Given the description of an element on the screen output the (x, y) to click on. 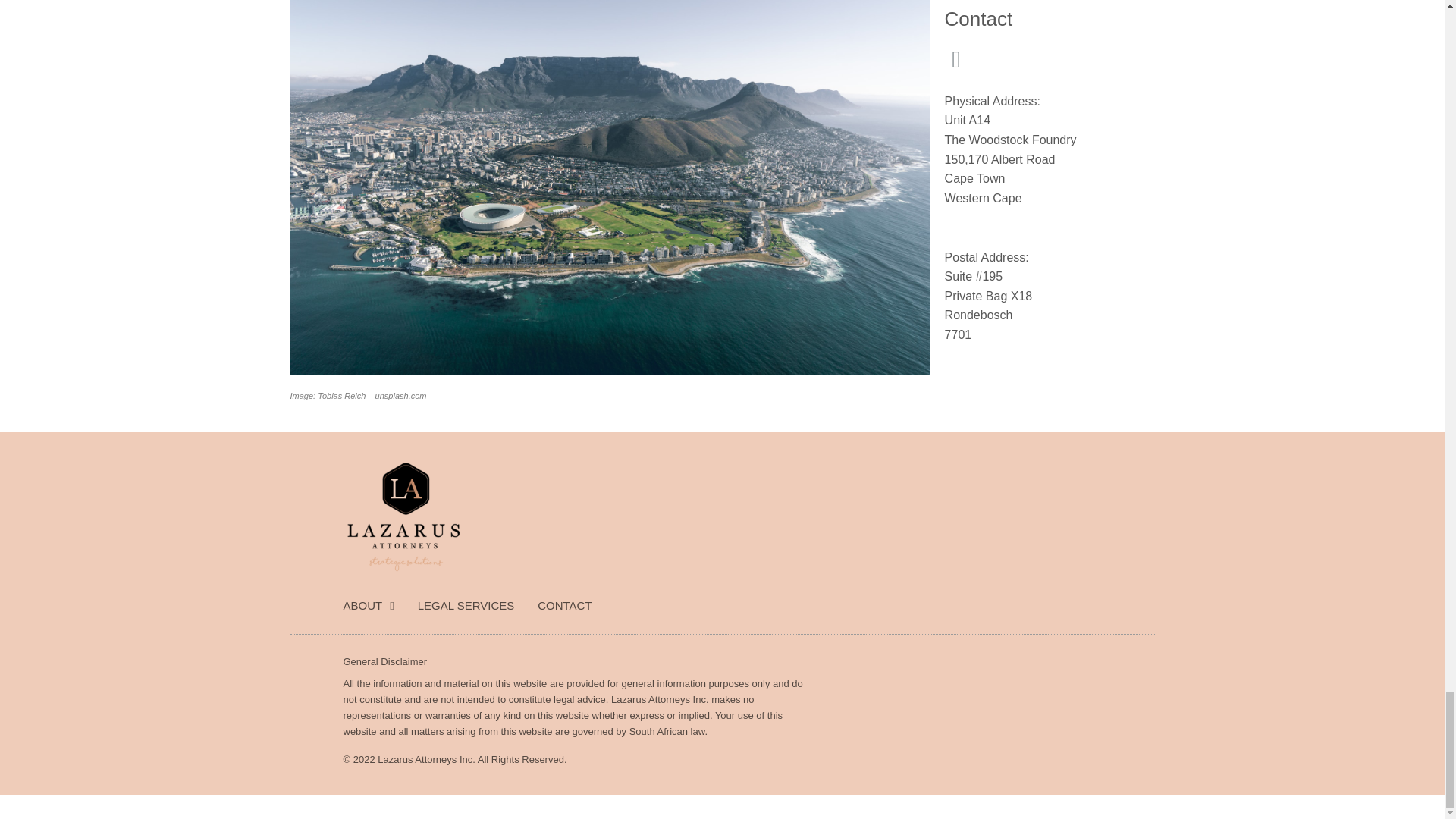
CONTACT (564, 605)
ABOUT (367, 605)
LEGAL SERVICES (466, 605)
